Given the description of an element on the screen output the (x, y) to click on. 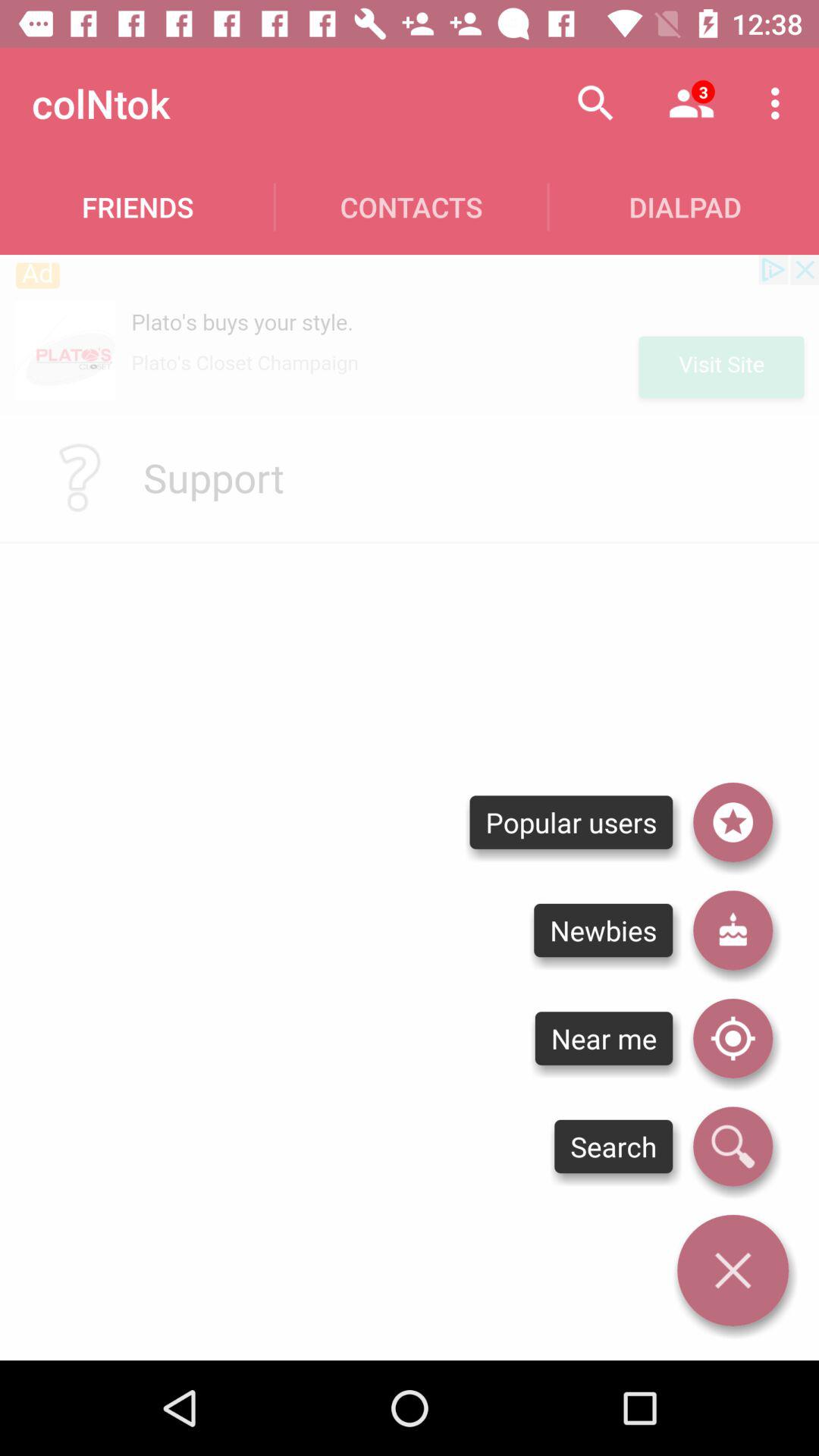
choose the icon to the right of near me (733, 1146)
